Given the description of an element on the screen output the (x, y) to click on. 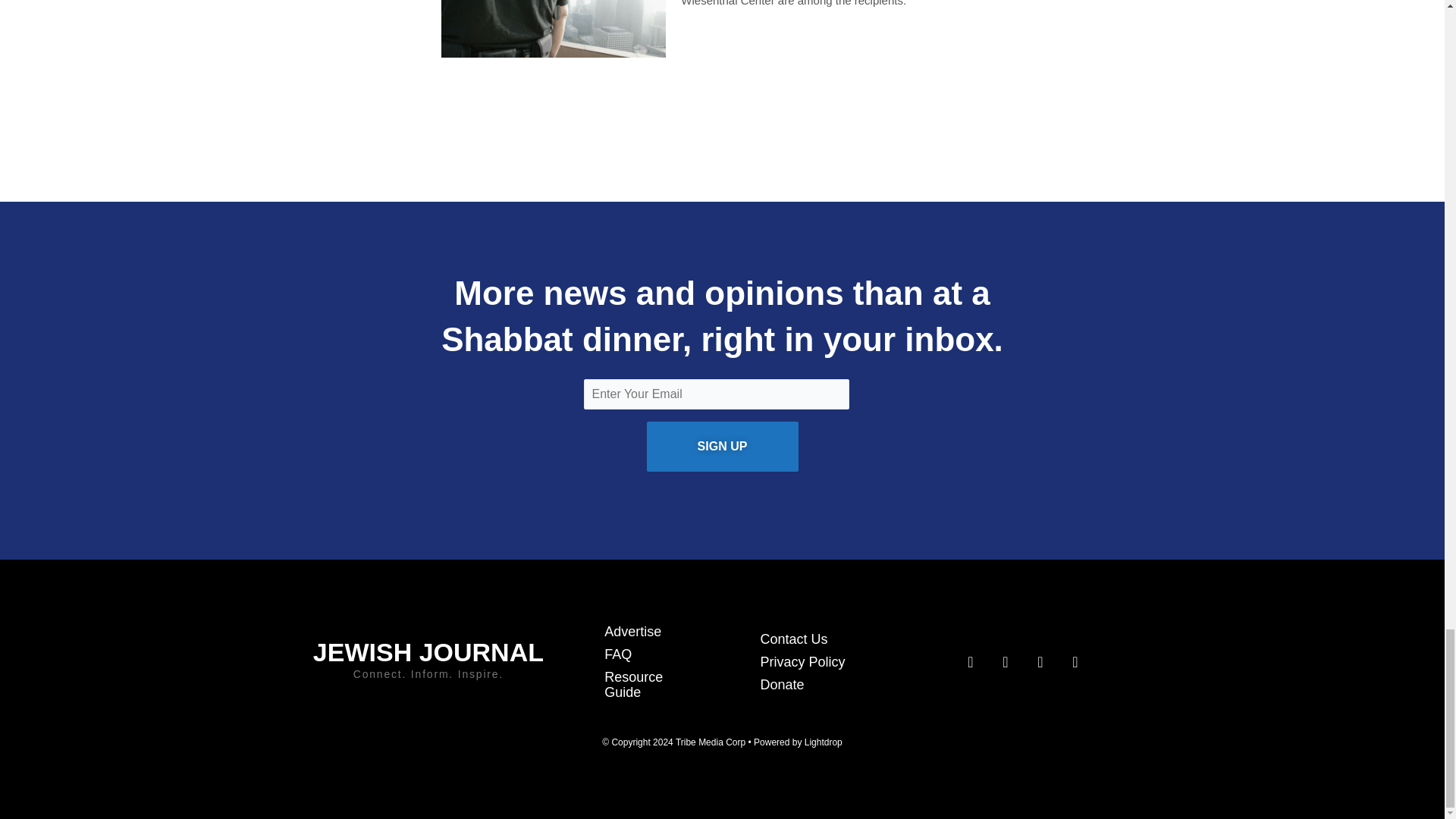
3rd party ad content (721, 118)
Sign Up (721, 446)
